Given the description of an element on the screen output the (x, y) to click on. 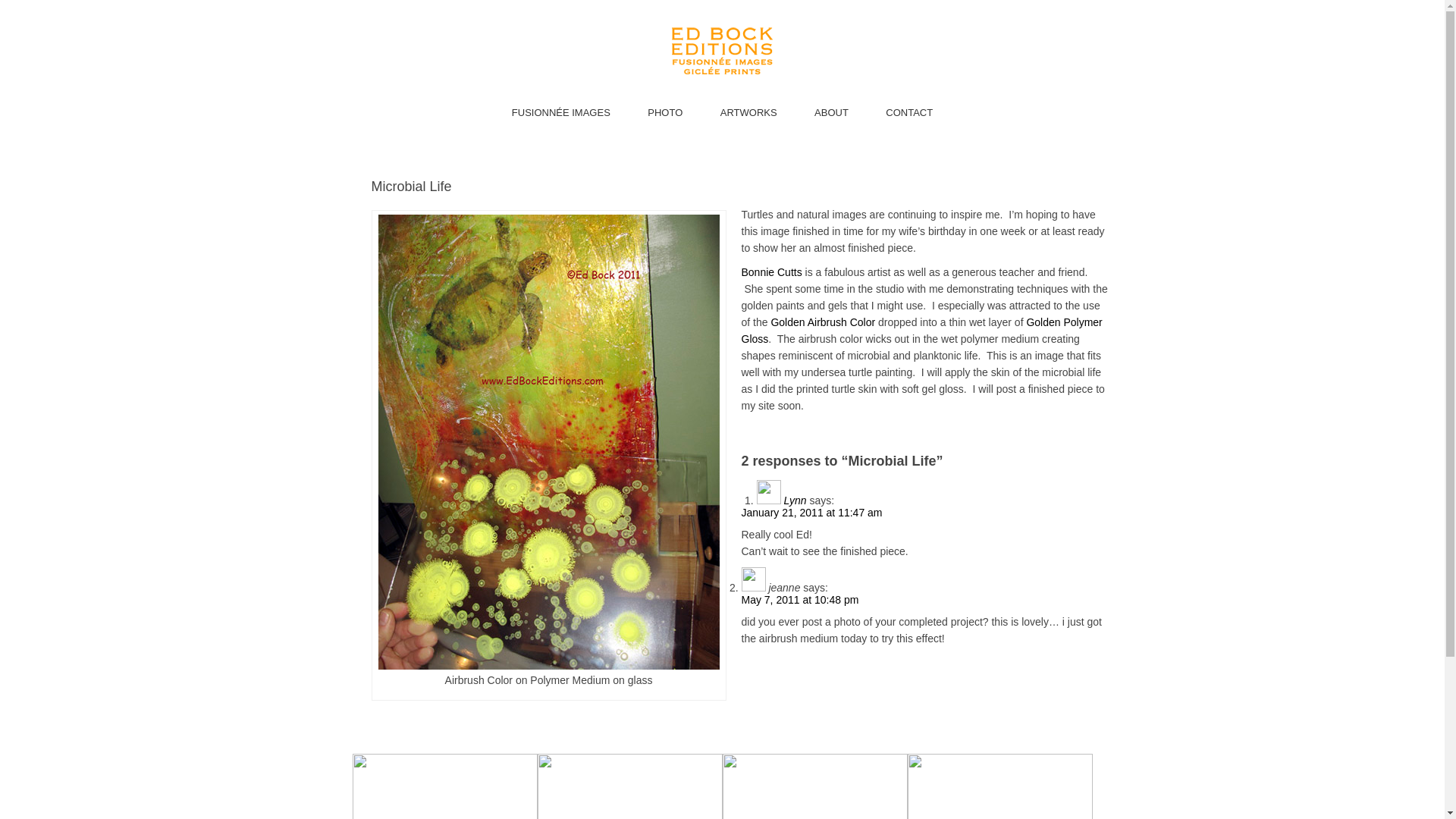
Bonnie Cutts Site (771, 272)
Golden Polymer info (921, 330)
May 7, 2011 at 10:48 pm (800, 599)
PHOTO (665, 112)
Lynn (794, 500)
Bonnie Cutts (771, 272)
ARTWORKS (749, 112)
ABOUT (831, 112)
Golden Airbrush info (822, 322)
CONTACT (909, 112)
January 21, 2011 at 11:47 am (811, 512)
Golden Airbrush Color (822, 322)
Golden Polymer Gloss (921, 330)
